Given the description of an element on the screen output the (x, y) to click on. 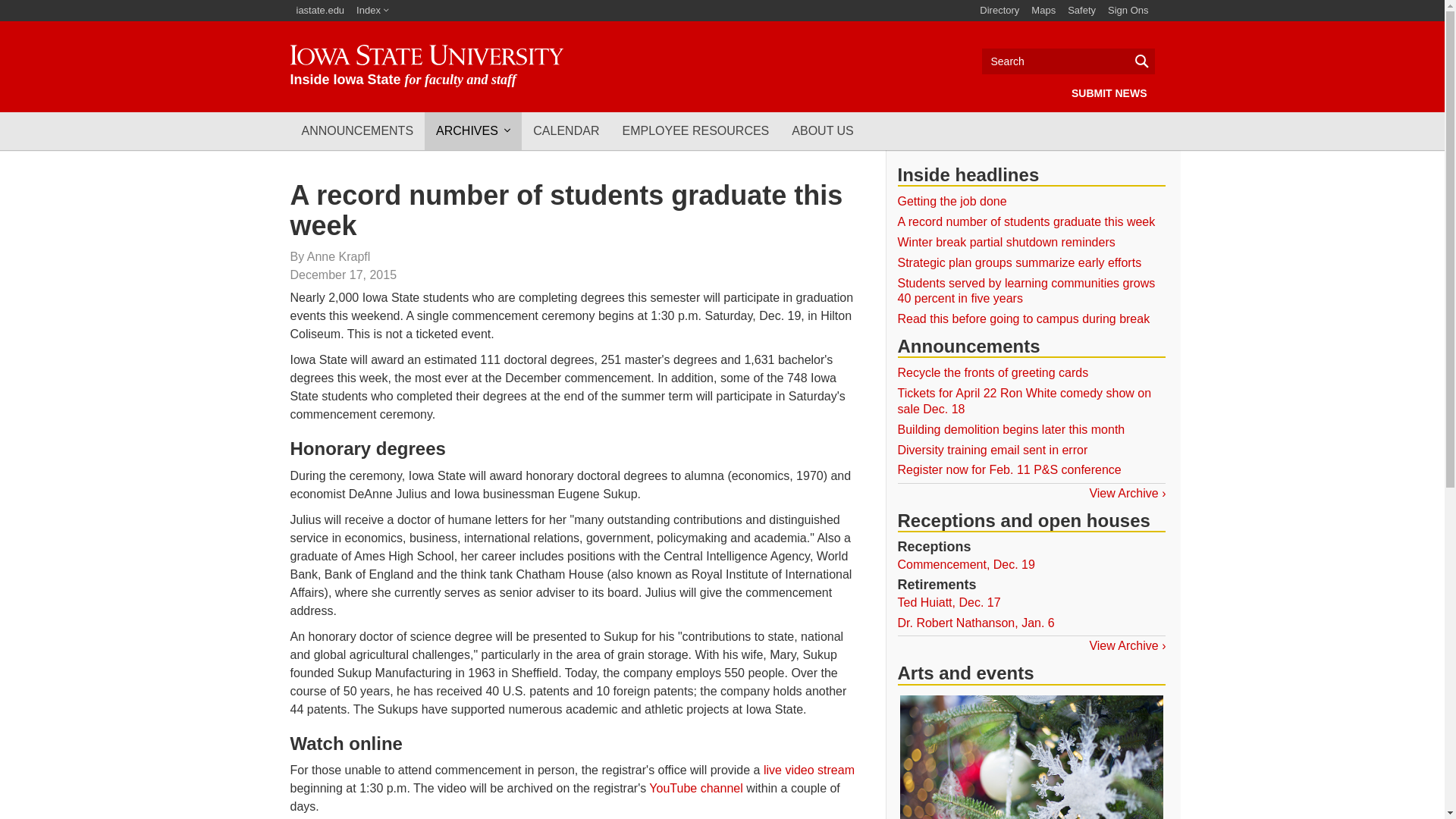
Sign Ons (1128, 10)
iastate.edu (319, 10)
Home (425, 66)
Directory (999, 10)
Index (372, 10)
ARCHIVES (473, 130)
Maps (1043, 10)
Search (1067, 61)
Safety (1081, 10)
ANNOUNCEMENTS (357, 130)
SUBMIT NEWS (1109, 93)
